Given the description of an element on the screen output the (x, y) to click on. 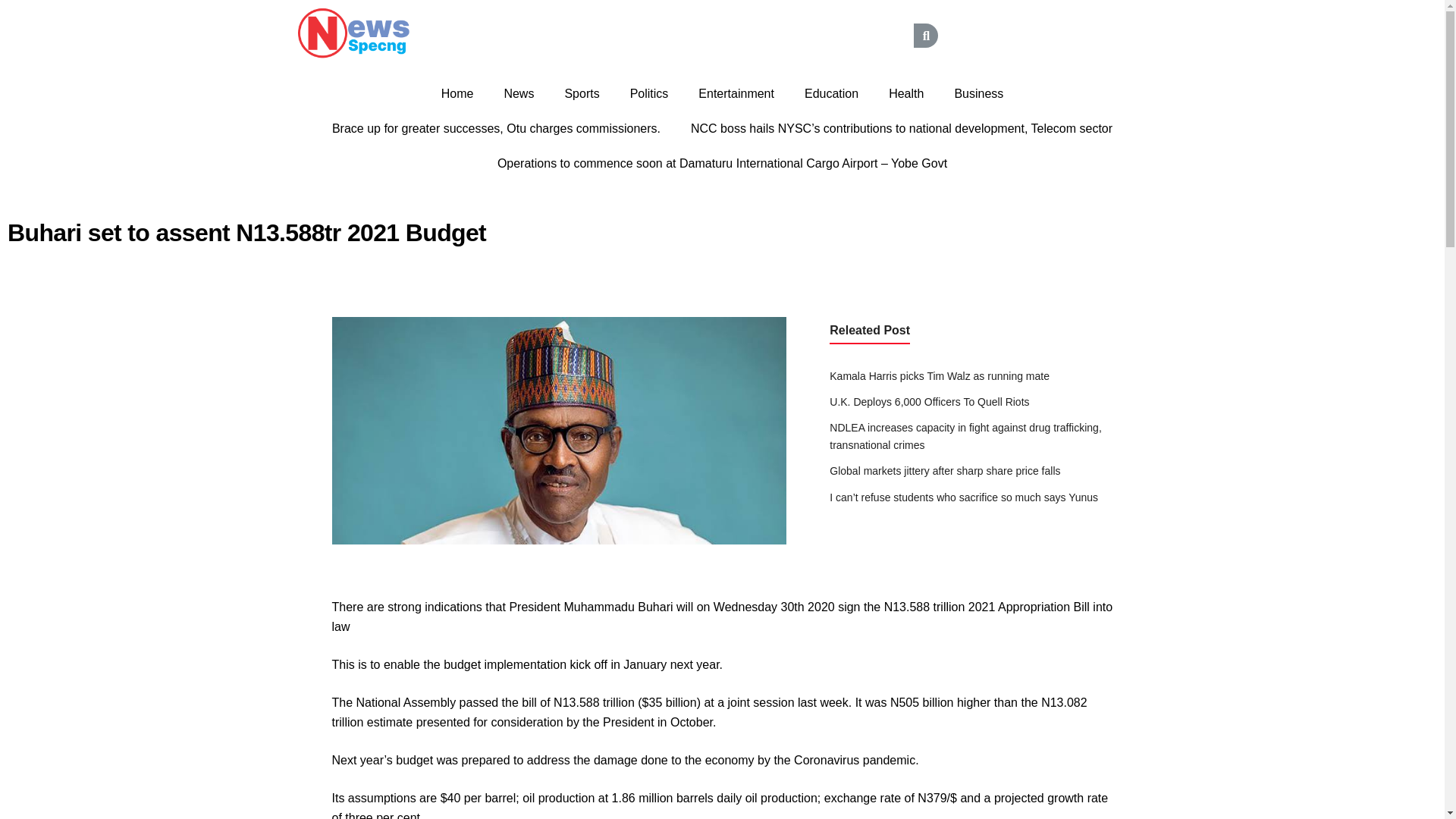
Entertainment (735, 93)
Politics (649, 93)
Search (925, 35)
U.K. Deploys 6,000 Officers To Quell Riots (929, 401)
Kamala Harris picks Tim Walz as running mate (939, 376)
Sports (581, 93)
Business (978, 93)
Education (831, 93)
News (517, 93)
Health (906, 93)
Global markets jittery after sharp share price falls (944, 470)
Brace up for greater successes, Otu charges commissioners. (496, 128)
Search (799, 35)
Home (457, 93)
